Given the description of an element on the screen output the (x, y) to click on. 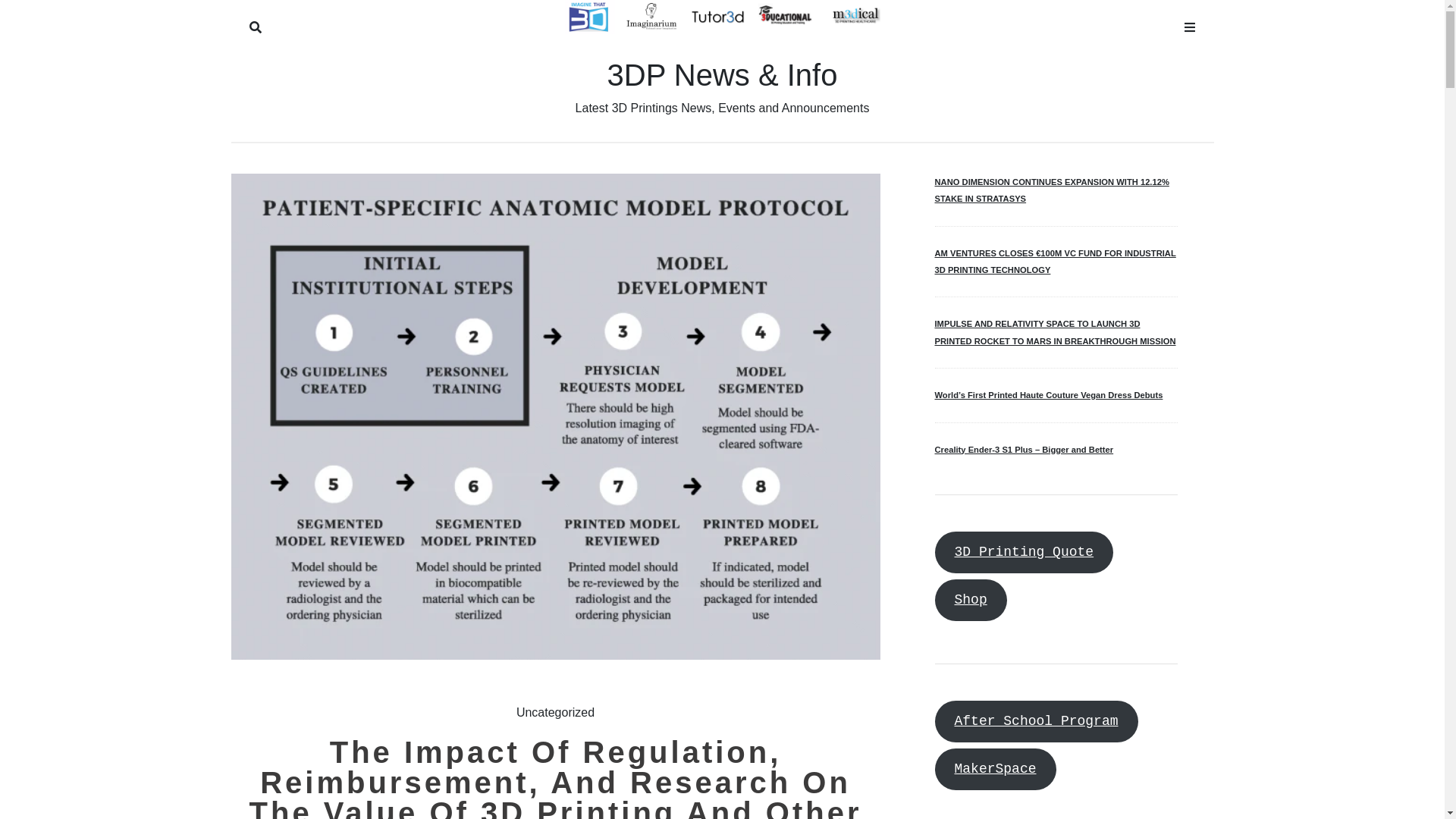
MakerSpace Element type: text (994, 769)
Shop Element type: text (970, 600)
3D Printing Quote Element type: text (1023, 552)
3DP News & Info Element type: text (722, 74)
After School Program Element type: text (1035, 721)
Search Element type: text (254, 24)
Menu Element type: text (1188, 24)
